Given the description of an element on the screen output the (x, y) to click on. 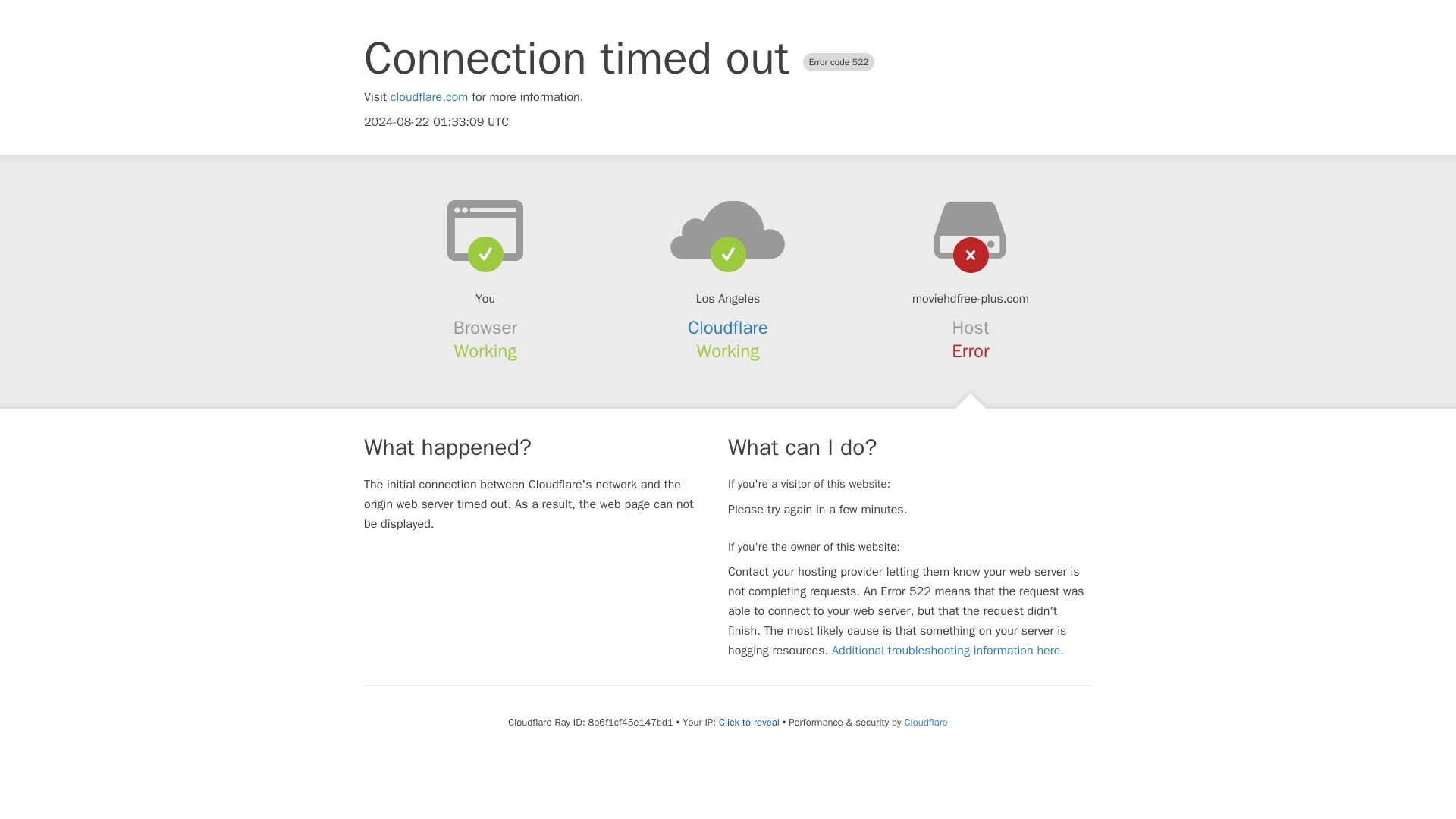
cloudflare.com (429, 96)
Cloudflare (727, 327)
Click to reveal (748, 722)
Additional troubleshooting information here. (947, 650)
Cloudflare (925, 721)
